Given the description of an element on the screen output the (x, y) to click on. 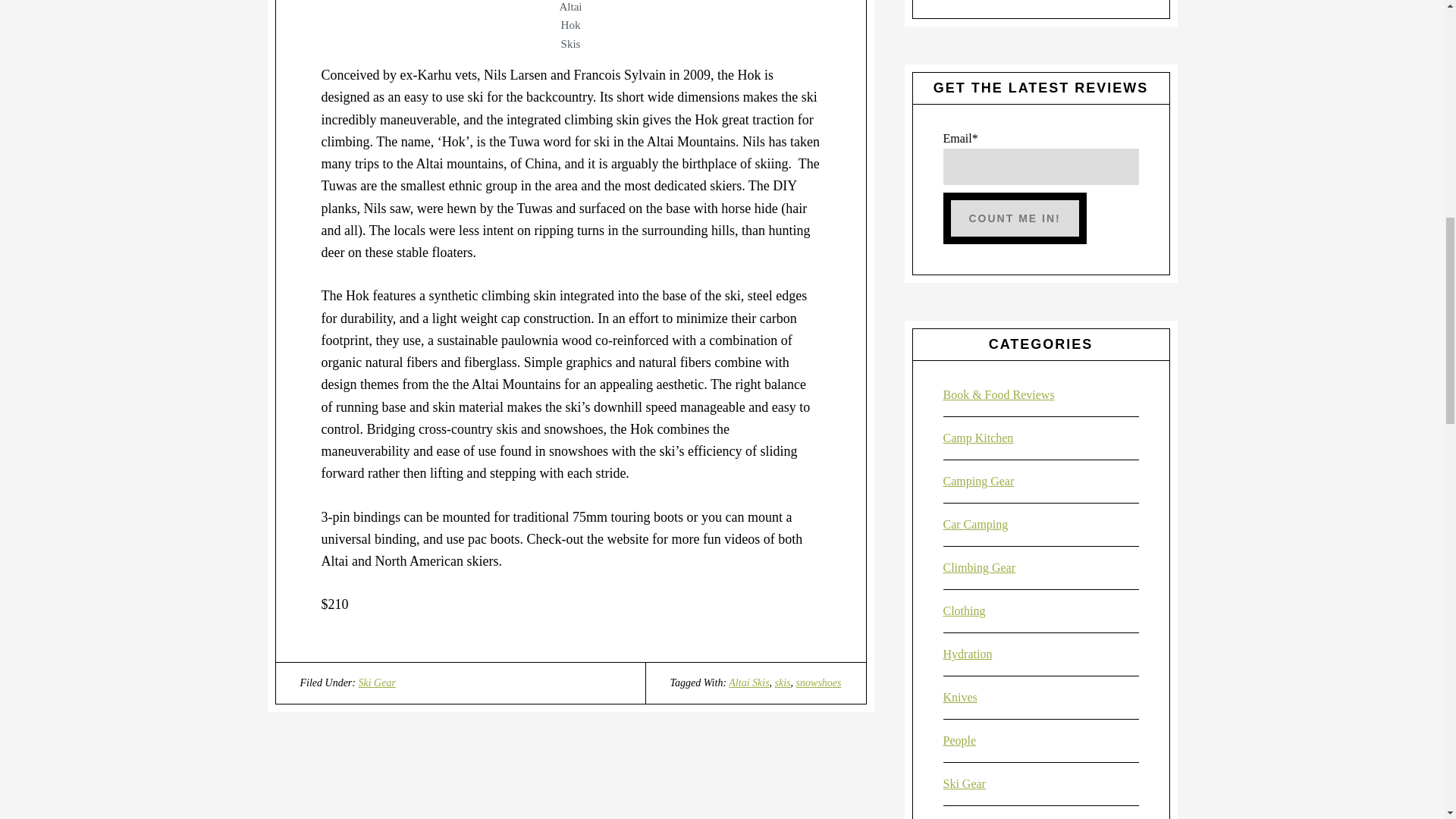
Ski Gear (376, 682)
snowshoes (818, 682)
Count me in! (1014, 217)
Altai Skis (748, 682)
Camp Kitchen (978, 437)
skis (782, 682)
Count me in! (1014, 217)
